Given the description of an element on the screen output the (x, y) to click on. 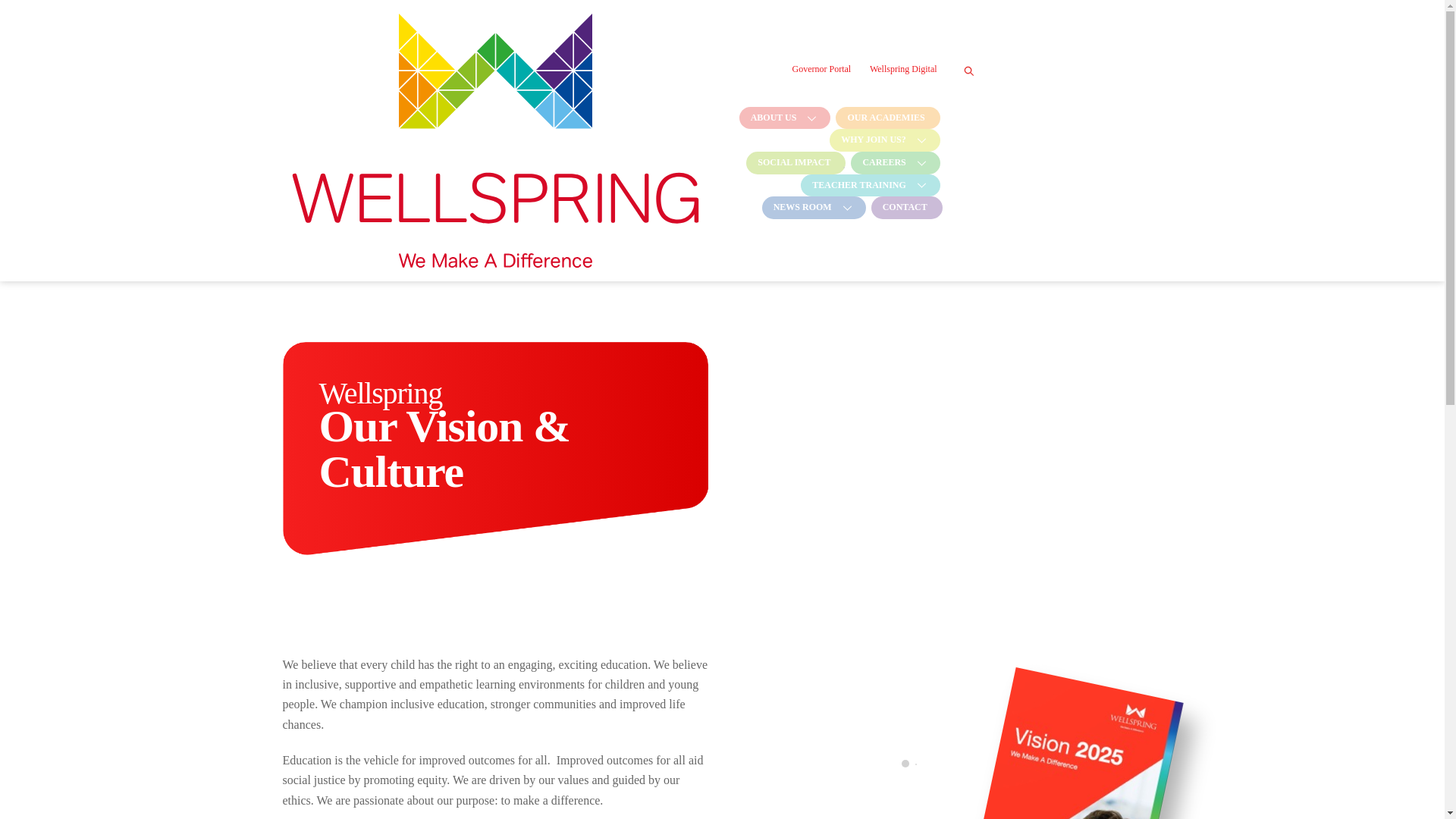
OUR ACADEMIES (885, 118)
NEWS ROOM (811, 207)
Governor Portal (821, 68)
Wellspring Digital (903, 68)
ABOUT US (783, 118)
WHY JOIN US? (882, 139)
CAREERS (893, 162)
TEACHER TRAINING (868, 185)
wellspring-logo-red (494, 140)
SOCIAL IMPACT (793, 162)
CONTACT (904, 207)
